Given the description of an element on the screen output the (x, y) to click on. 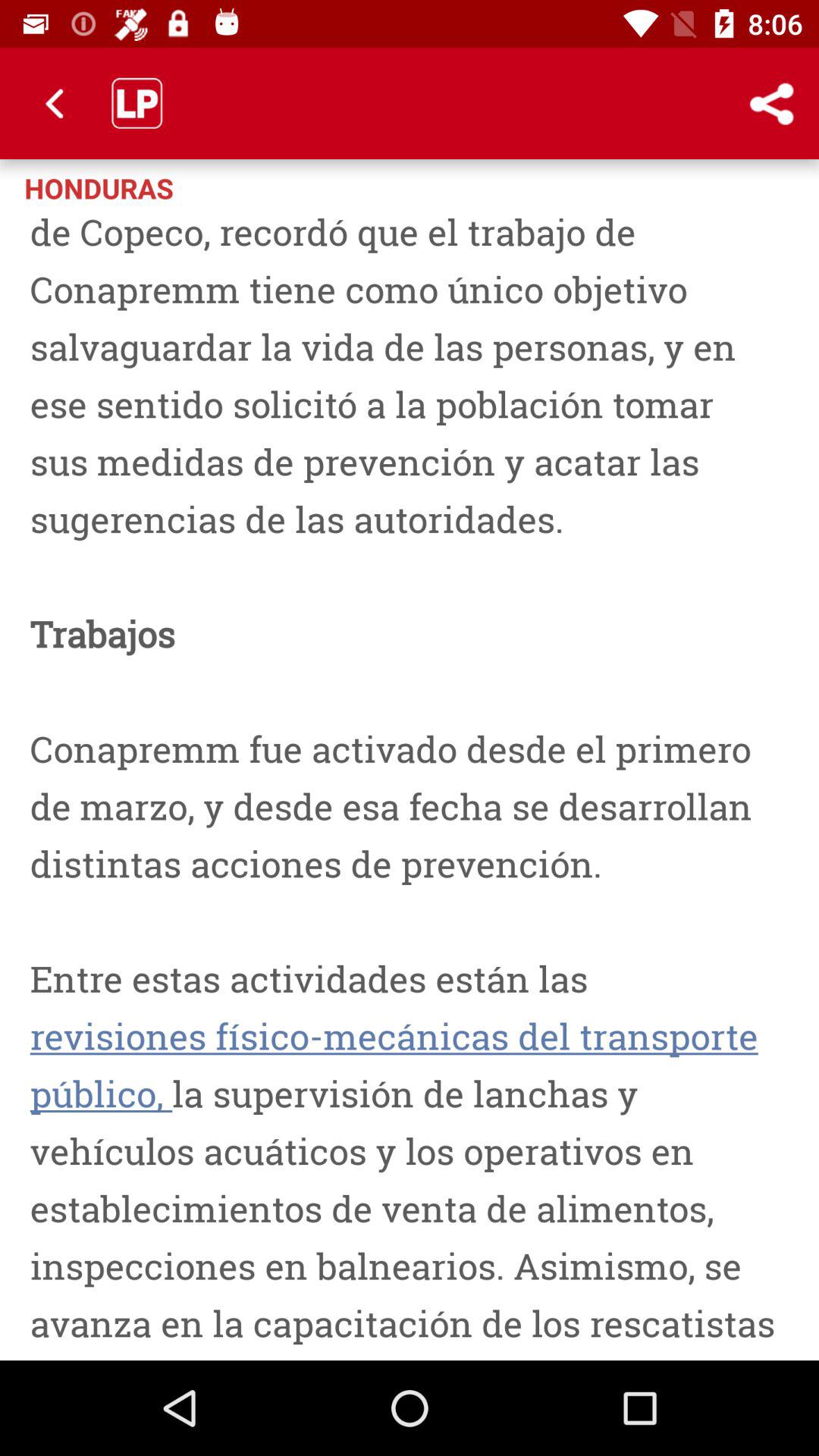
turn off icon to the right of the honduras item (709, 186)
